Given the description of an element on the screen output the (x, y) to click on. 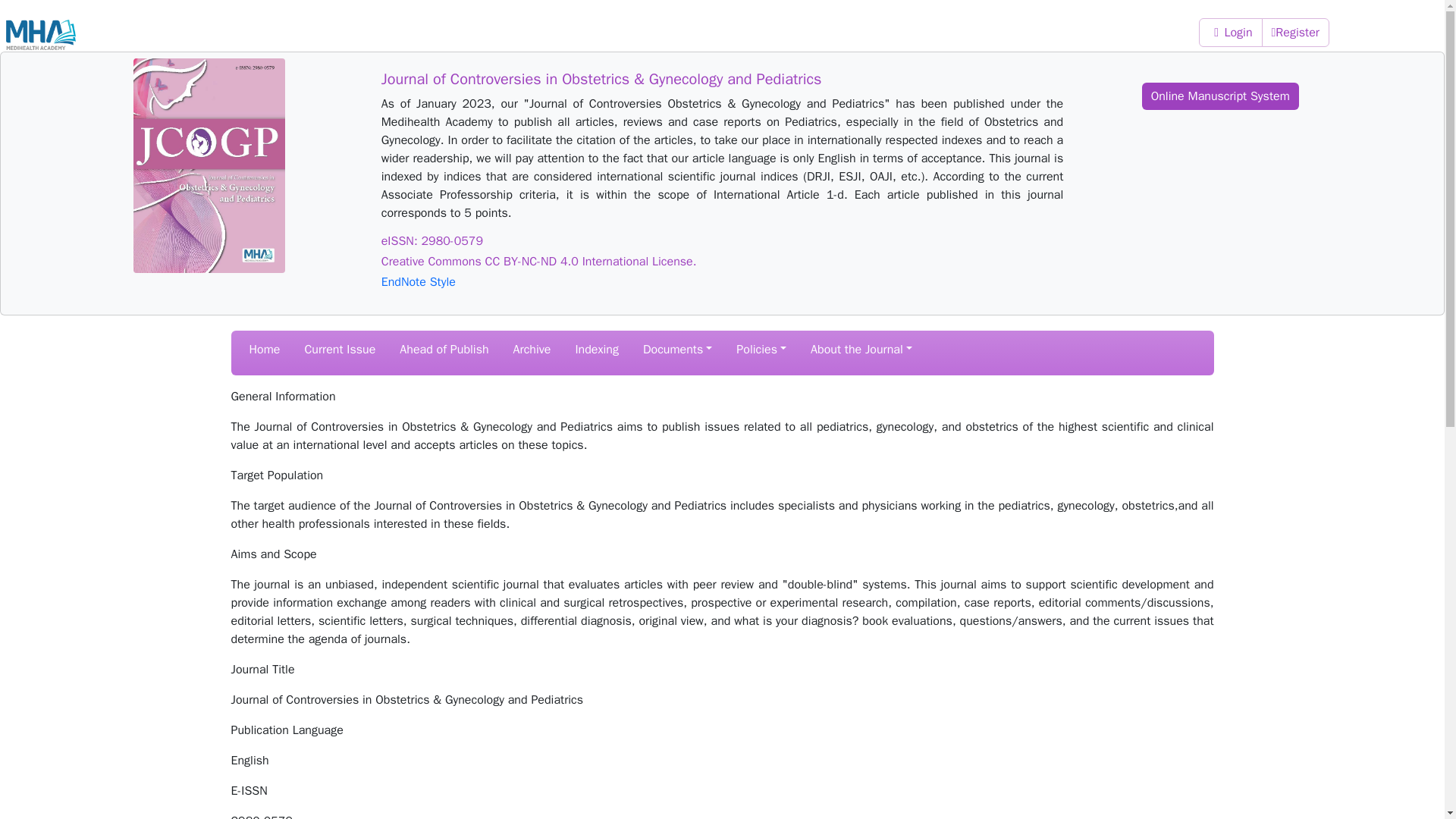
Documents (677, 349)
Ahead of Publish (444, 349)
Home (264, 349)
Creative Commons CC BY-NC-ND 4.0 International License. (722, 261)
EndNote Style (722, 282)
Register (1295, 32)
About the Journal (861, 349)
Policies (761, 349)
Login (1230, 32)
Current Issue (339, 349)
Online Manuscript System (1219, 95)
Indexing (596, 349)
Archive (531, 349)
